Given the description of an element on the screen output the (x, y) to click on. 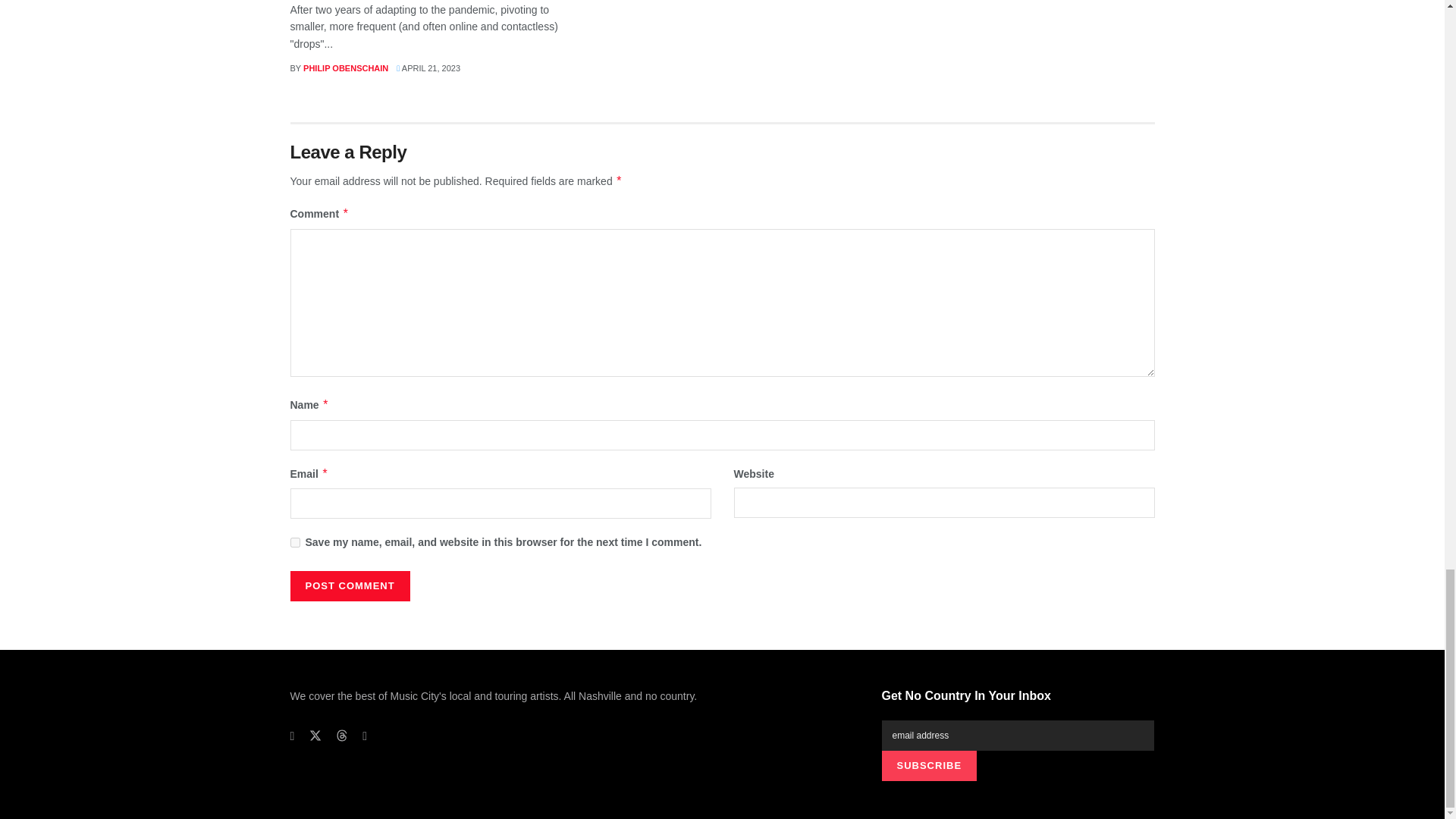
Subscribe (928, 766)
yes (294, 542)
Post Comment (349, 585)
